Given the description of an element on the screen output the (x, y) to click on. 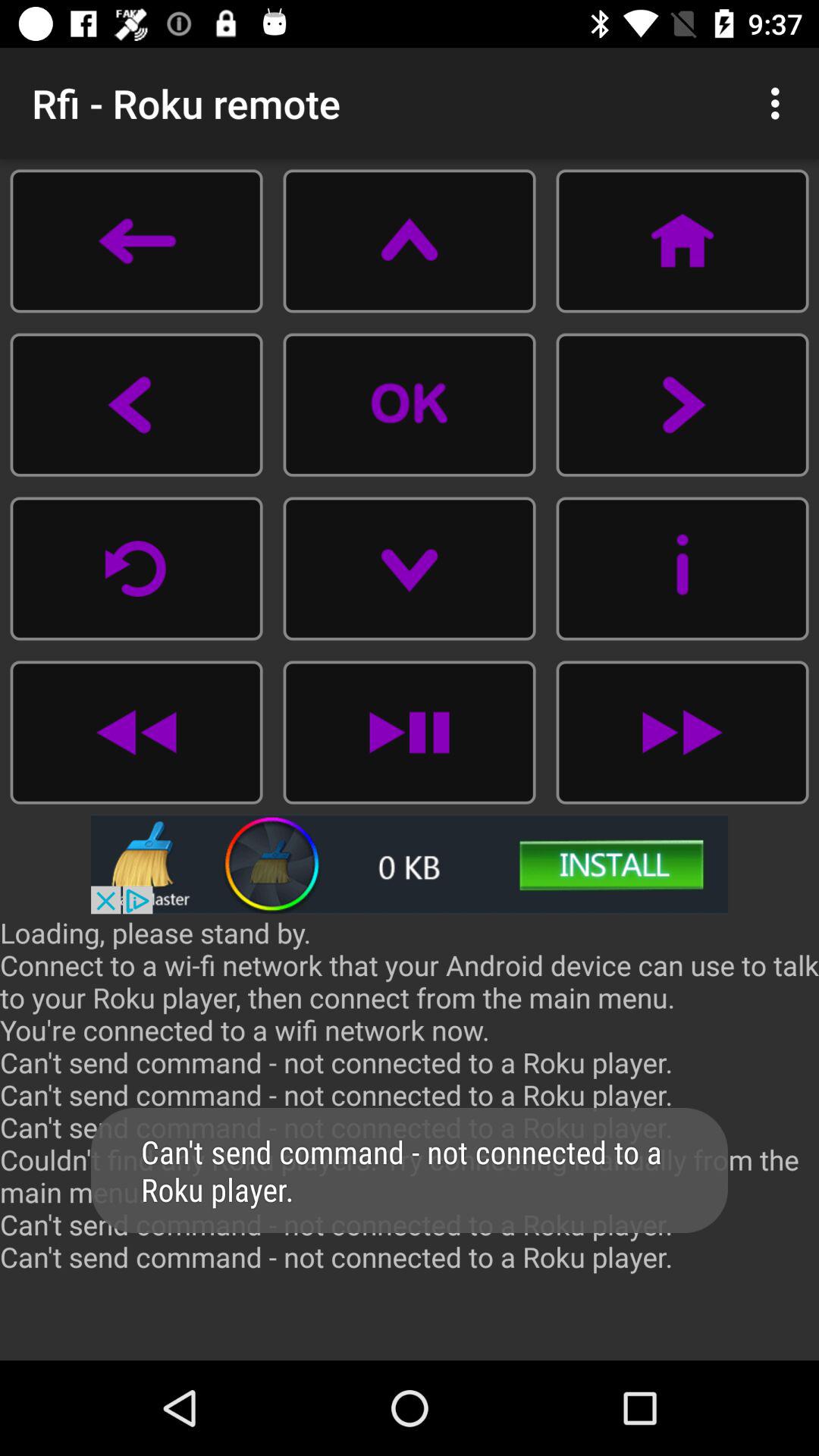
clean install option (409, 863)
